Given the description of an element on the screen output the (x, y) to click on. 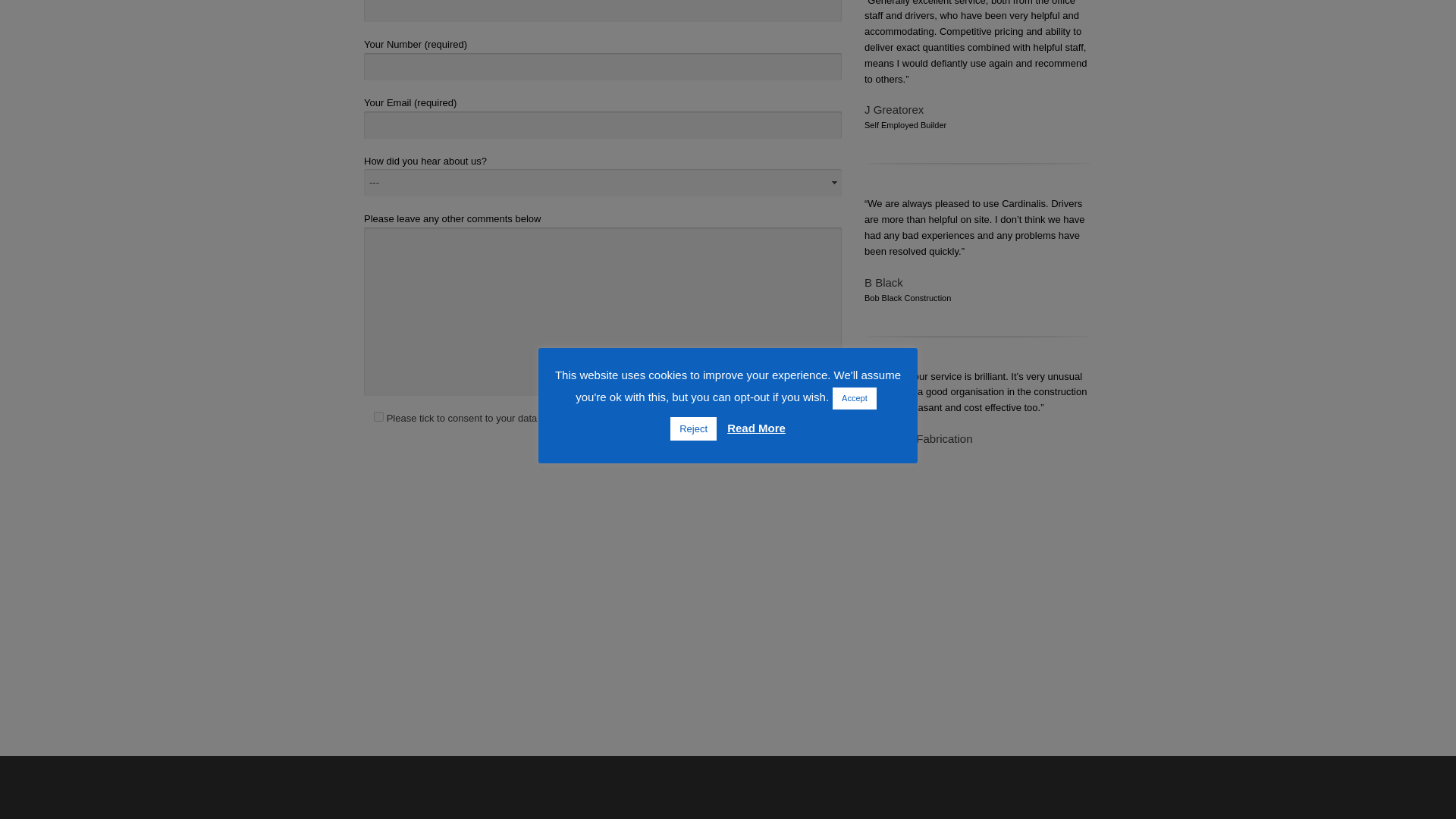
1 (379, 416)
privacy policy. (798, 418)
Send (387, 509)
